Given the description of an element on the screen output the (x, y) to click on. 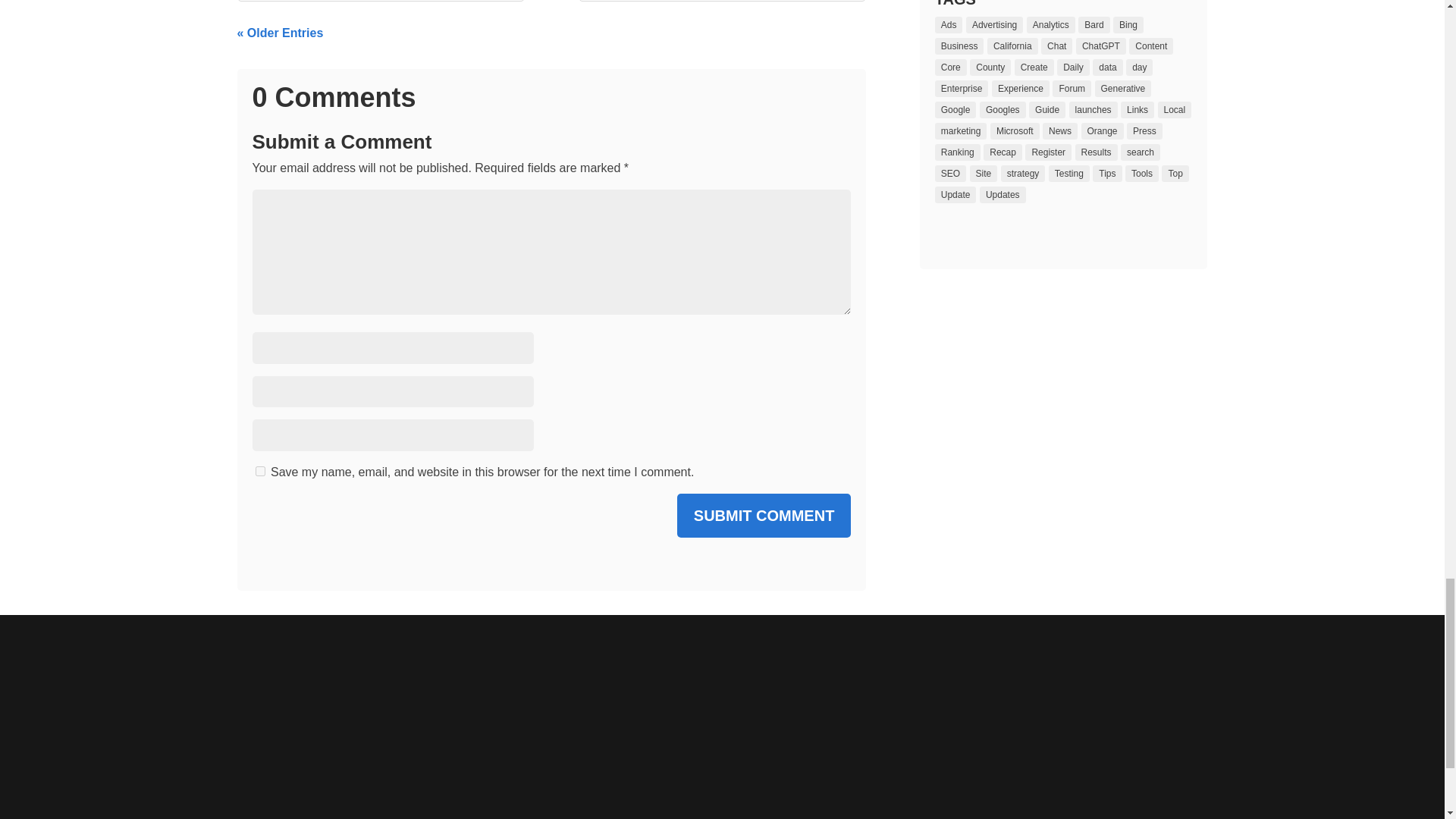
SUBMIT COMMENT (764, 515)
Bard (1093, 24)
Ads (948, 24)
Advertising (994, 24)
yes (259, 470)
ChatGPT (1100, 45)
California (1012, 45)
Business (959, 45)
Bing (1127, 24)
Chat (1056, 45)
